Given the description of an element on the screen output the (x, y) to click on. 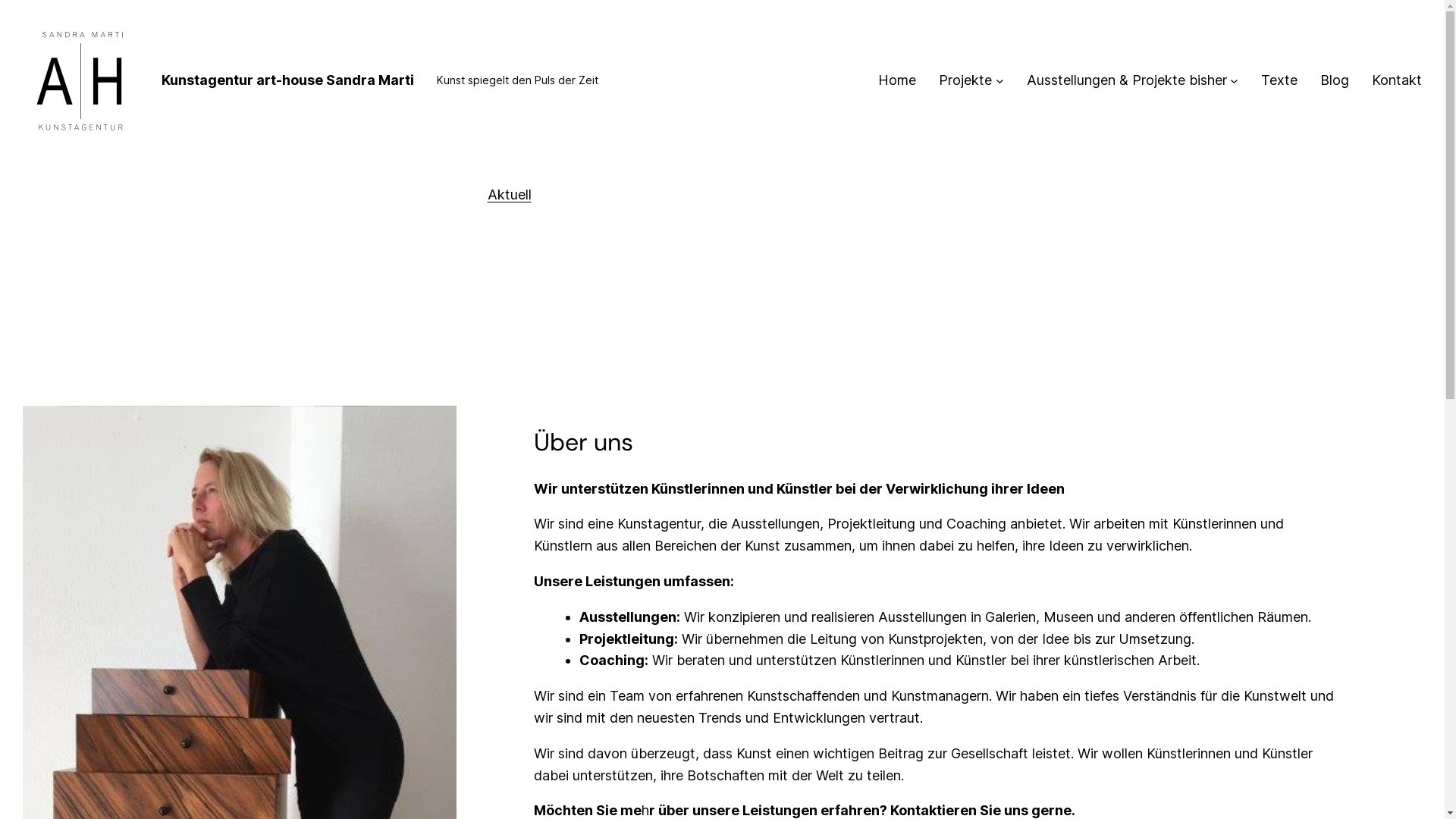
Texte Element type: text (1279, 80)
Kunstagentur art-house Sandra Marti Element type: text (287, 79)
Blog Element type: text (1334, 80)
Projekte Element type: text (964, 80)
Ausstellungen & Projekte bisher Element type: text (1126, 80)
Aktuell Element type: text (508, 194)
Kontakt Element type: text (1396, 80)
Home Element type: text (897, 80)
